Given the description of an element on the screen output the (x, y) to click on. 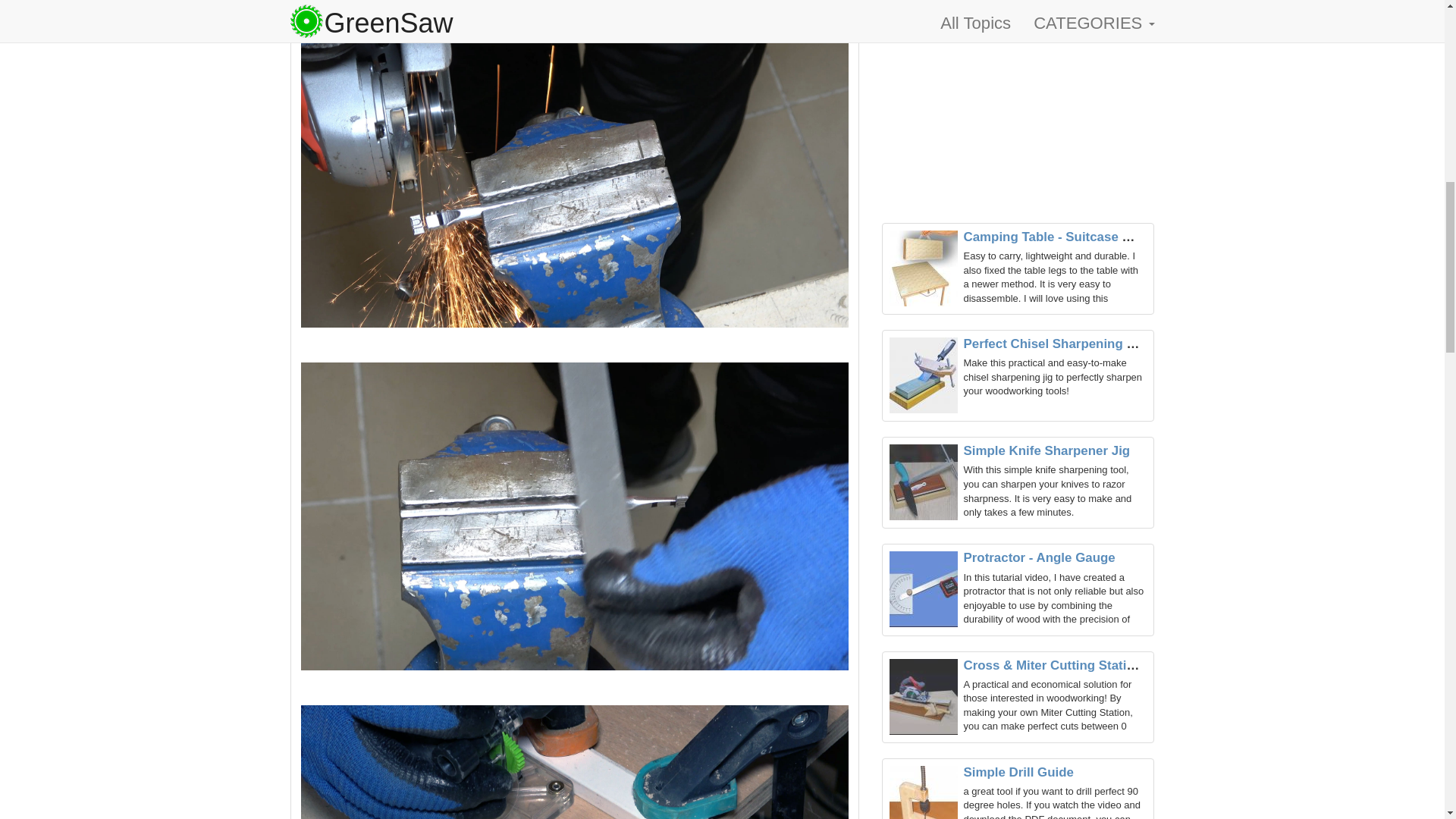
Perfect Chisel Sharpening Tool (1056, 343)
3.jpg image on T Track Router Bit, page  (573, 762)
Camping Table - Suitcase Box (1053, 237)
